Given the description of an element on the screen output the (x, y) to click on. 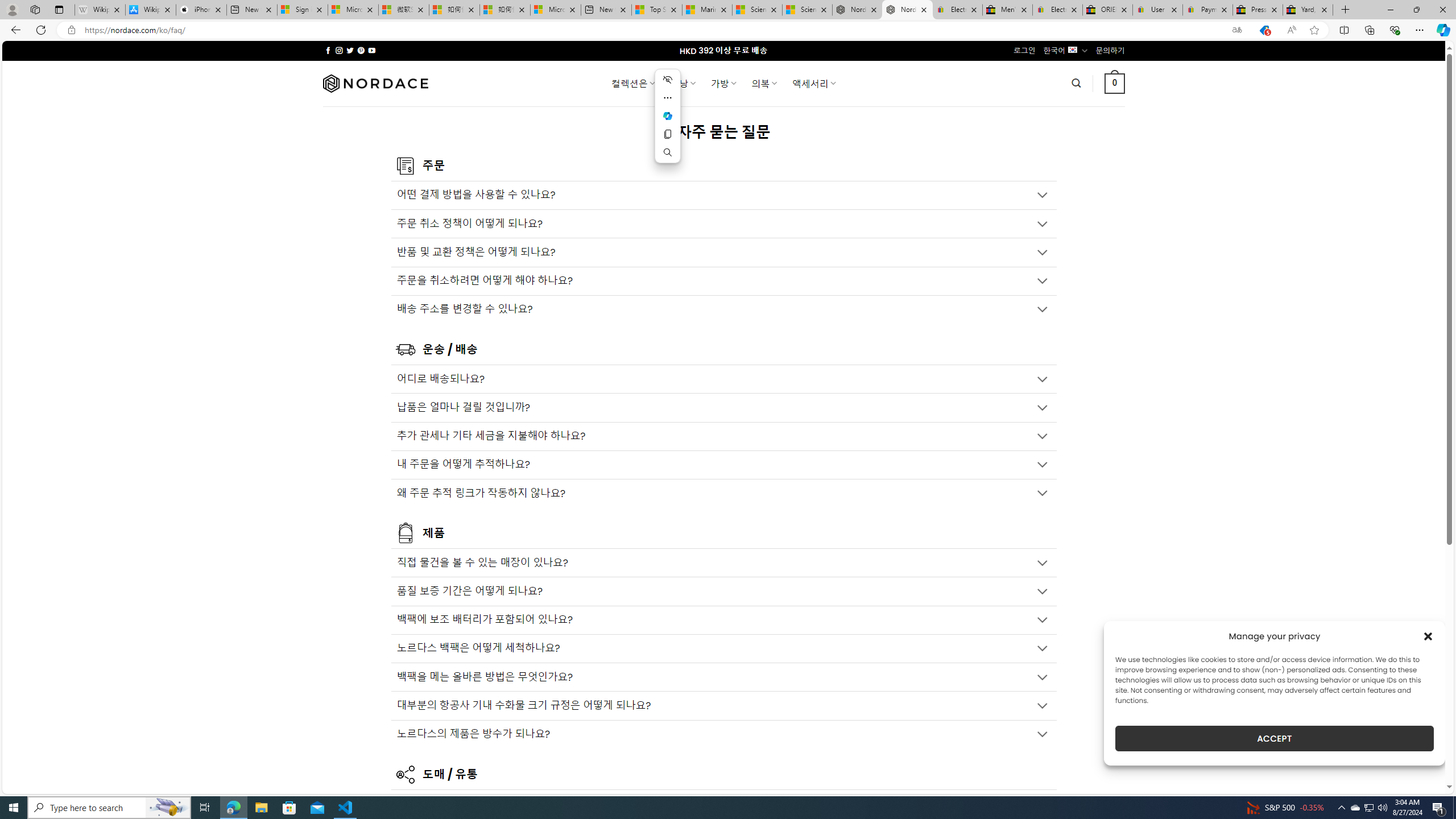
Top Stories - MSN (656, 9)
Microsoft account | Account Checkup (555, 9)
Copy (667, 134)
